Given the description of an element on the screen output the (x, y) to click on. 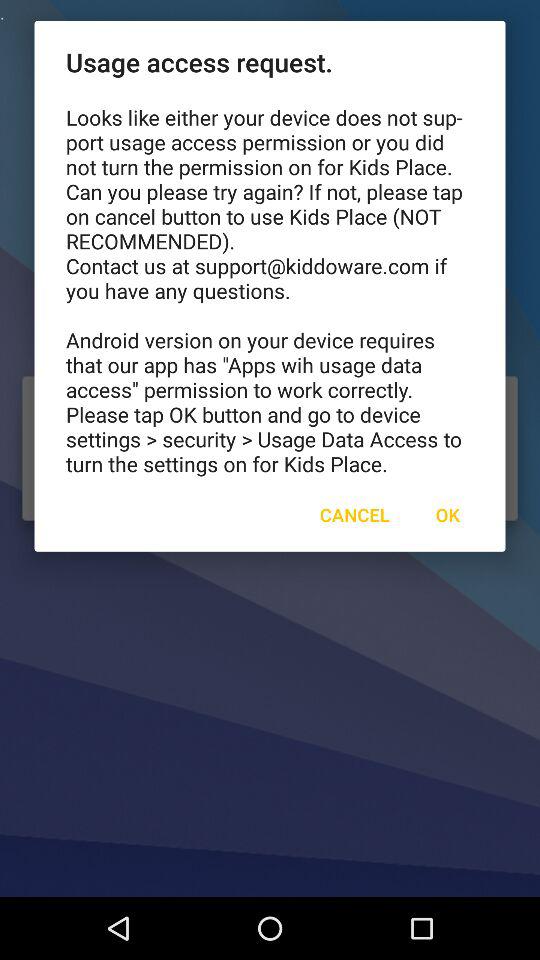
press the icon below the looks like either item (447, 514)
